Given the description of an element on the screen output the (x, y) to click on. 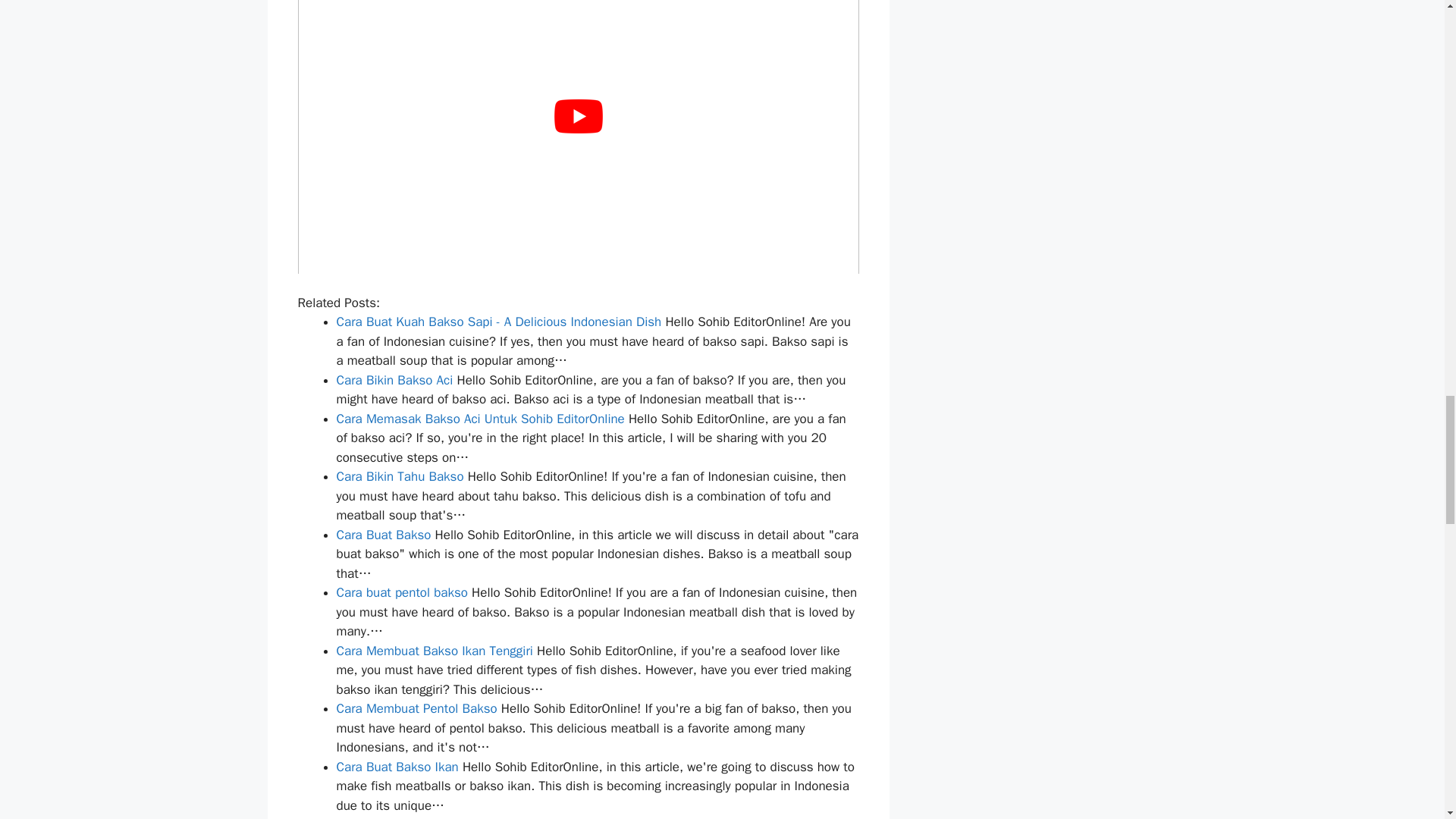
Cara Bikin Tahu Bakso (400, 476)
Cara Membuat Pentol Bakso (416, 708)
Cara Buat Bakso (383, 534)
Cara Memasak Bakso Aci Untuk Sohib EditorOnline (480, 418)
Cara Membuat Bakso Ikan Tenggiri (434, 650)
Cara Bikin Bakso Aci (394, 380)
Cara buat pentol bakso (401, 592)
Cara Buat Kuah Bakso Sapi - A Delicious Indonesian Dish (499, 321)
Cara Membuat Bakso (397, 817)
Cara Buat Bakso Ikan (397, 766)
